Given the description of an element on the screen output the (x, y) to click on. 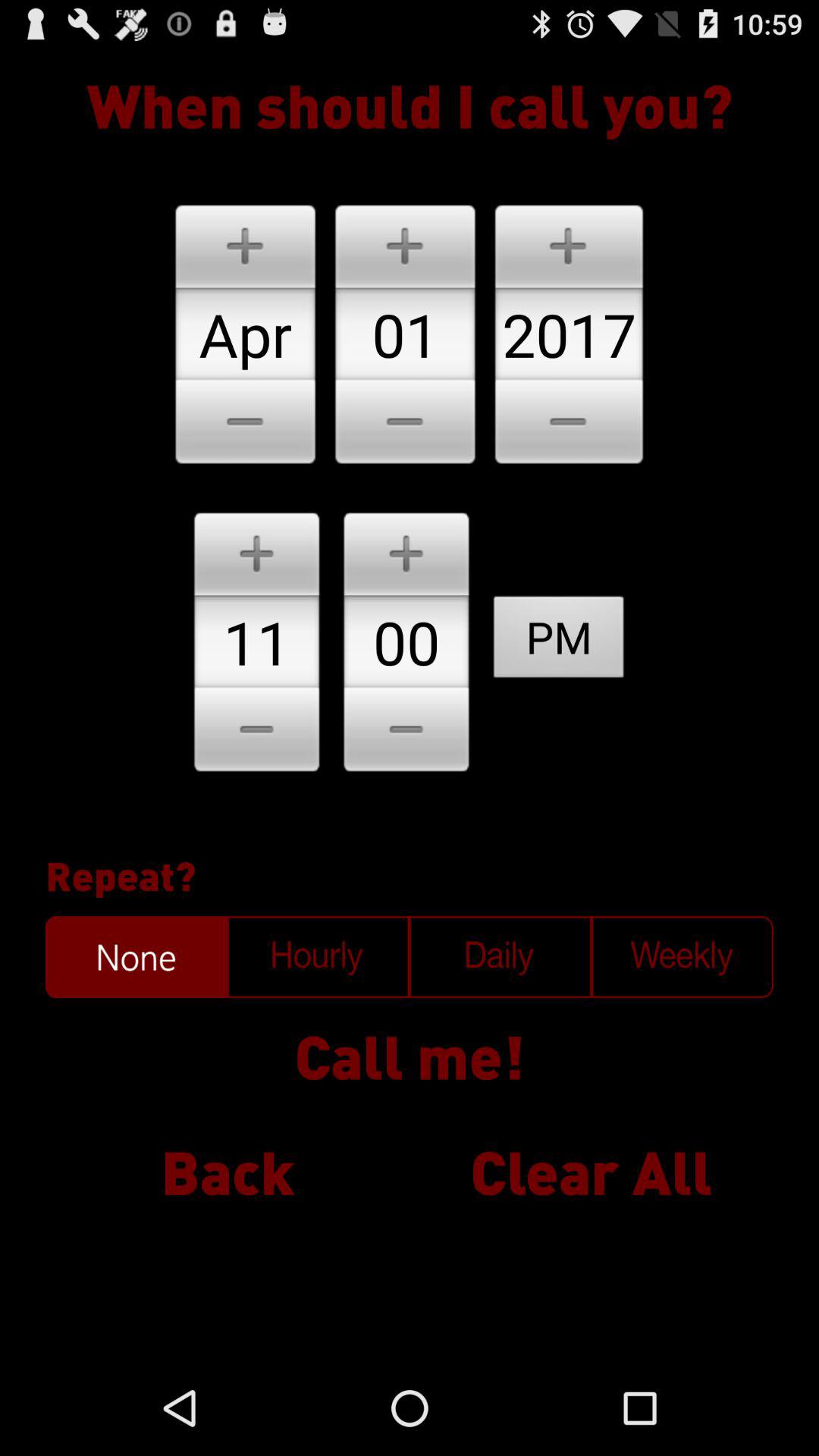
option for repeating (136, 957)
